Given the description of an element on the screen output the (x, y) to click on. 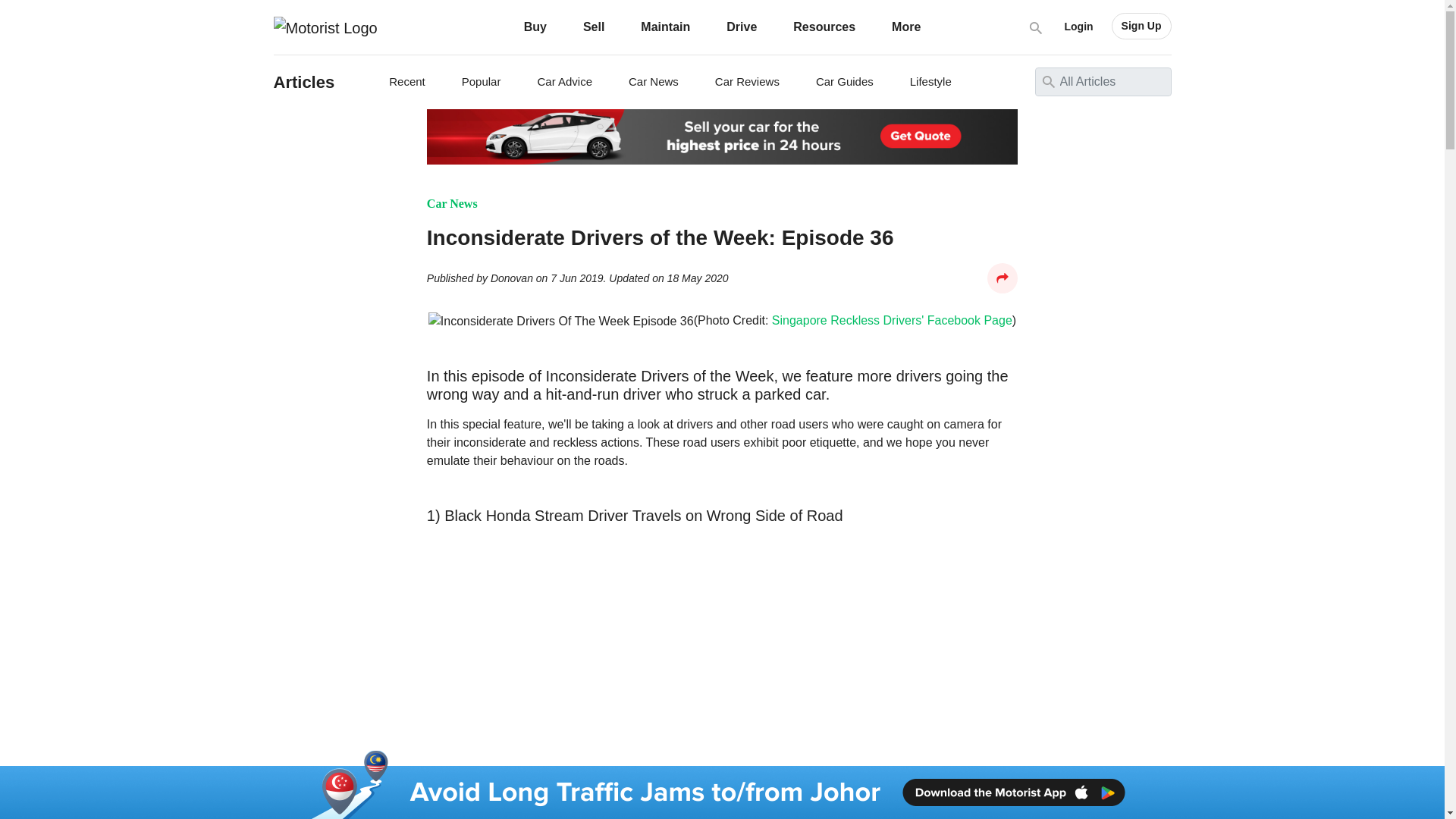
Resources (823, 27)
More (906, 27)
Maintain (664, 27)
Sell (592, 27)
Drive (741, 27)
Buy (535, 27)
